Given the description of an element on the screen output the (x, y) to click on. 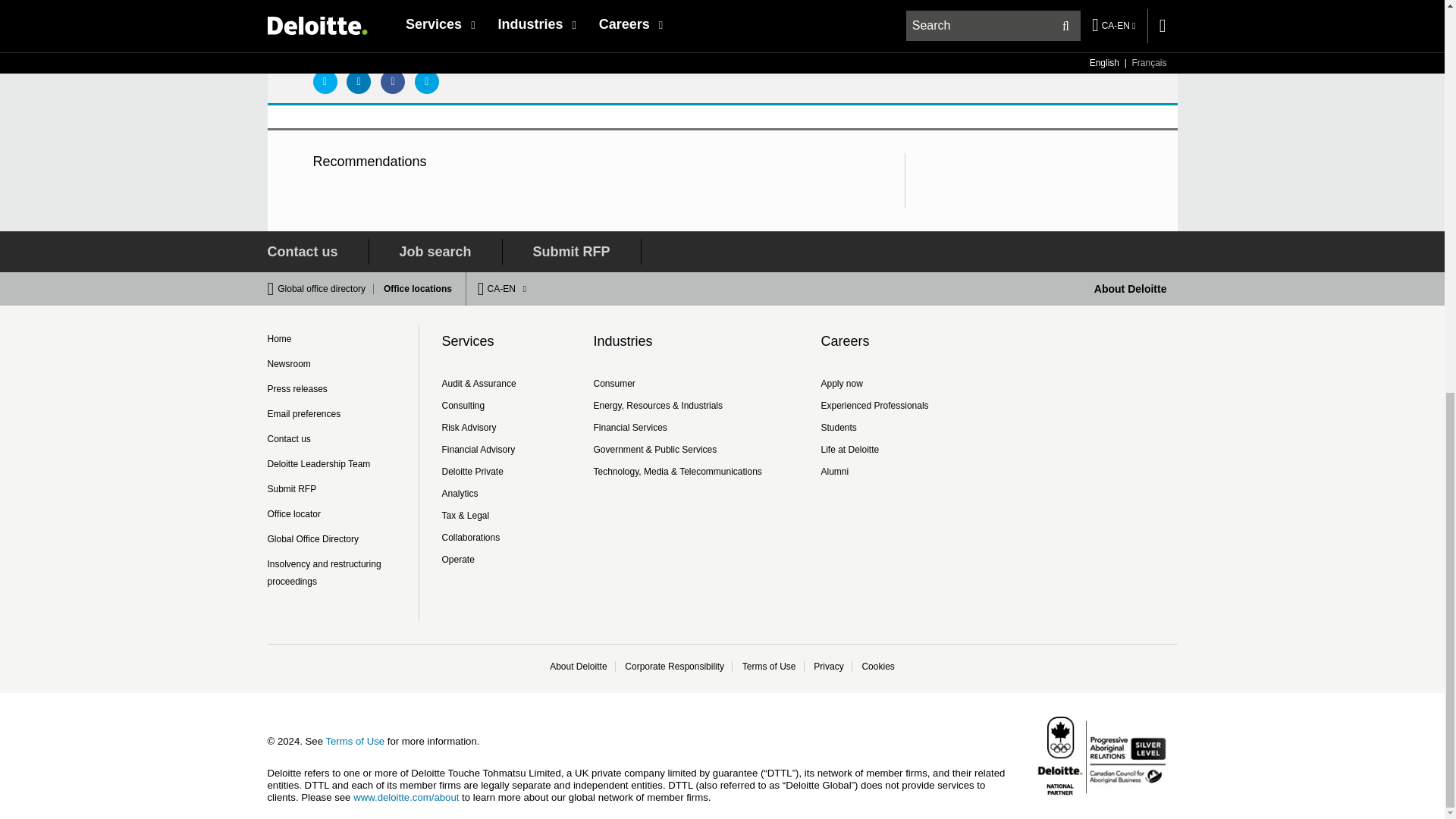
Global office directory (326, 288)
Share via LinkedIn (358, 81)
Share via Email (426, 81)
Share via Twitter (324, 81)
About Deloitte (1130, 288)
Office locations (413, 288)
Share via Facebook (392, 81)
